Given the description of an element on the screen output the (x, y) to click on. 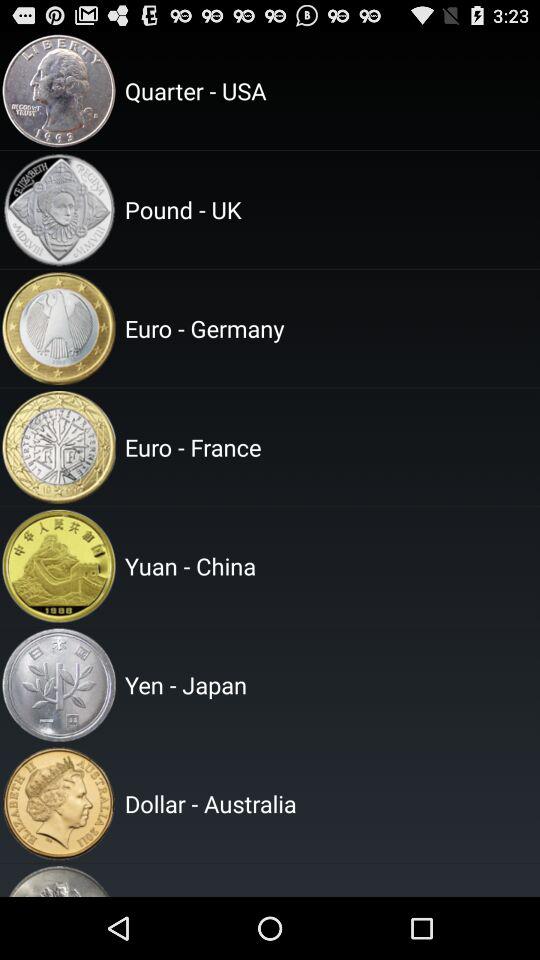
swipe until euro - france app (329, 447)
